Given the description of an element on the screen output the (x, y) to click on. 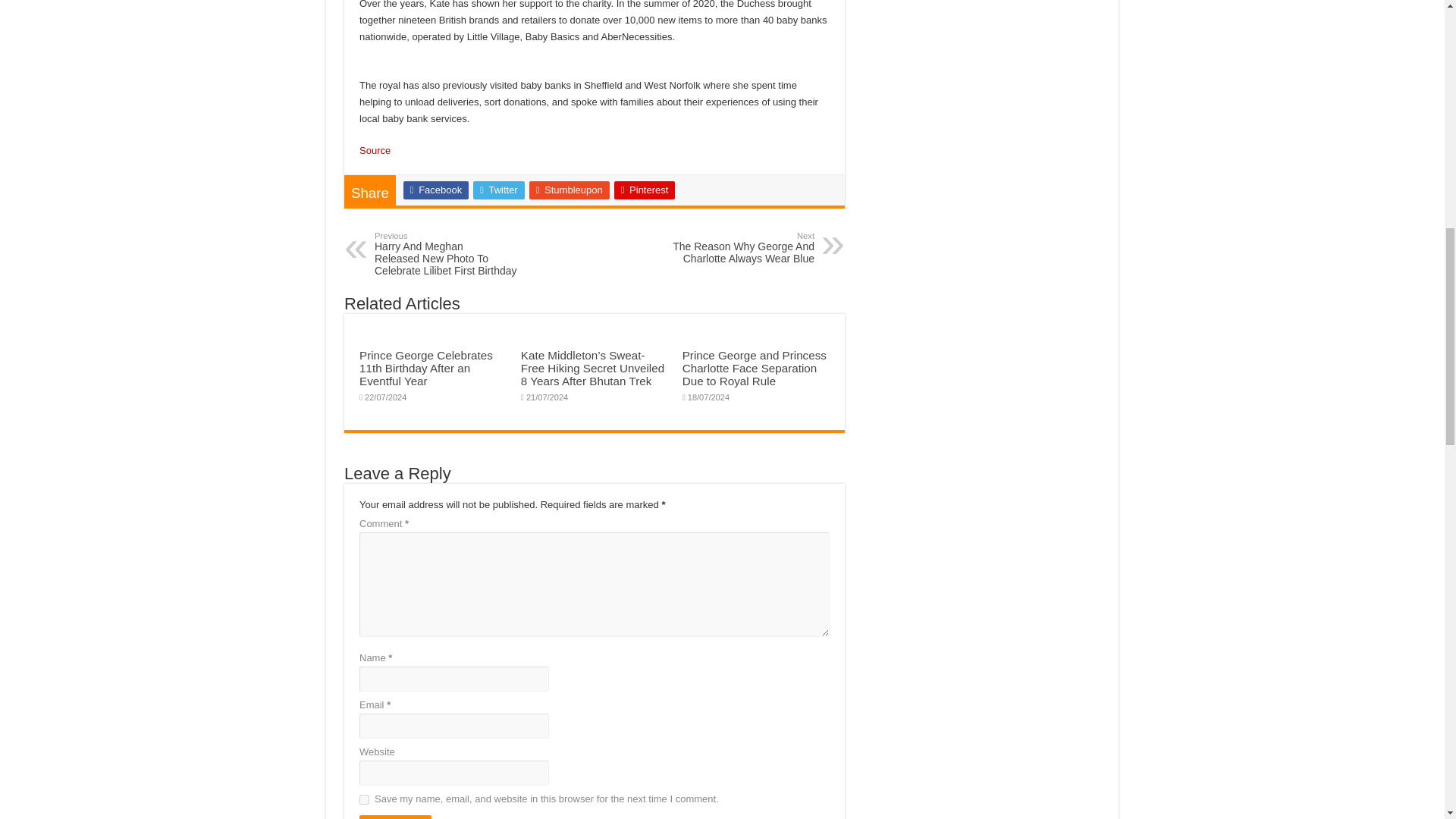
Pinterest (736, 247)
Twitter (644, 189)
Facebook (498, 189)
Stumbleupon (435, 189)
yes (569, 189)
Post Comment (364, 799)
Source (394, 816)
